Given the description of an element on the screen output the (x, y) to click on. 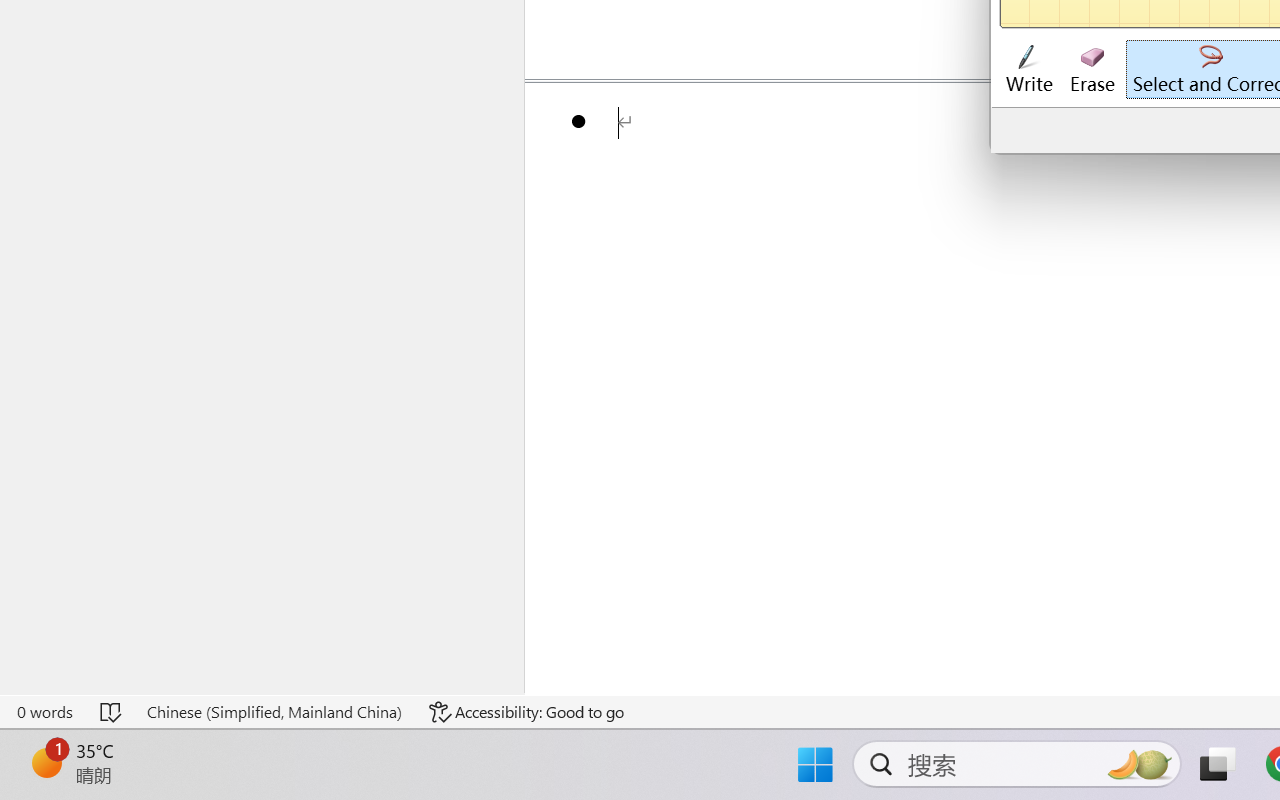
Erase (1092, 69)
Write (1028, 69)
